Given the description of an element on the screen output the (x, y) to click on. 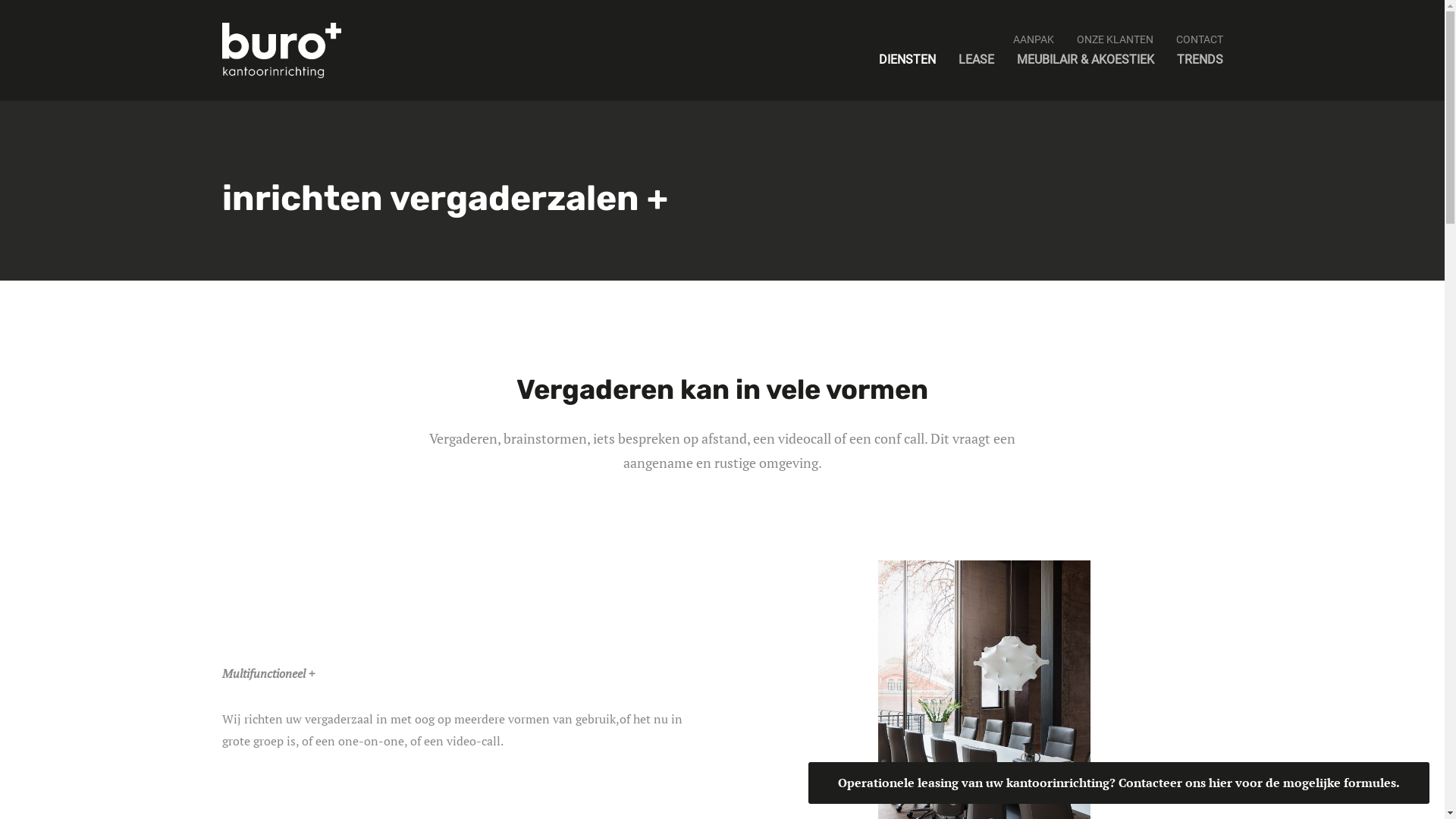
CONTACT Element type: text (1198, 39)
MEUBILAIR & AKOESTIEK Element type: text (1084, 59)
LEASE Element type: text (976, 59)
AANPAK Element type: text (1033, 39)
buro+ kantoorinrichting Element type: text (280, 50)
TRENDS Element type: text (1199, 59)
ONZE KLANTEN Element type: text (1114, 39)
DIENSTEN Element type: text (906, 59)
